Given the description of an element on the screen output the (x, y) to click on. 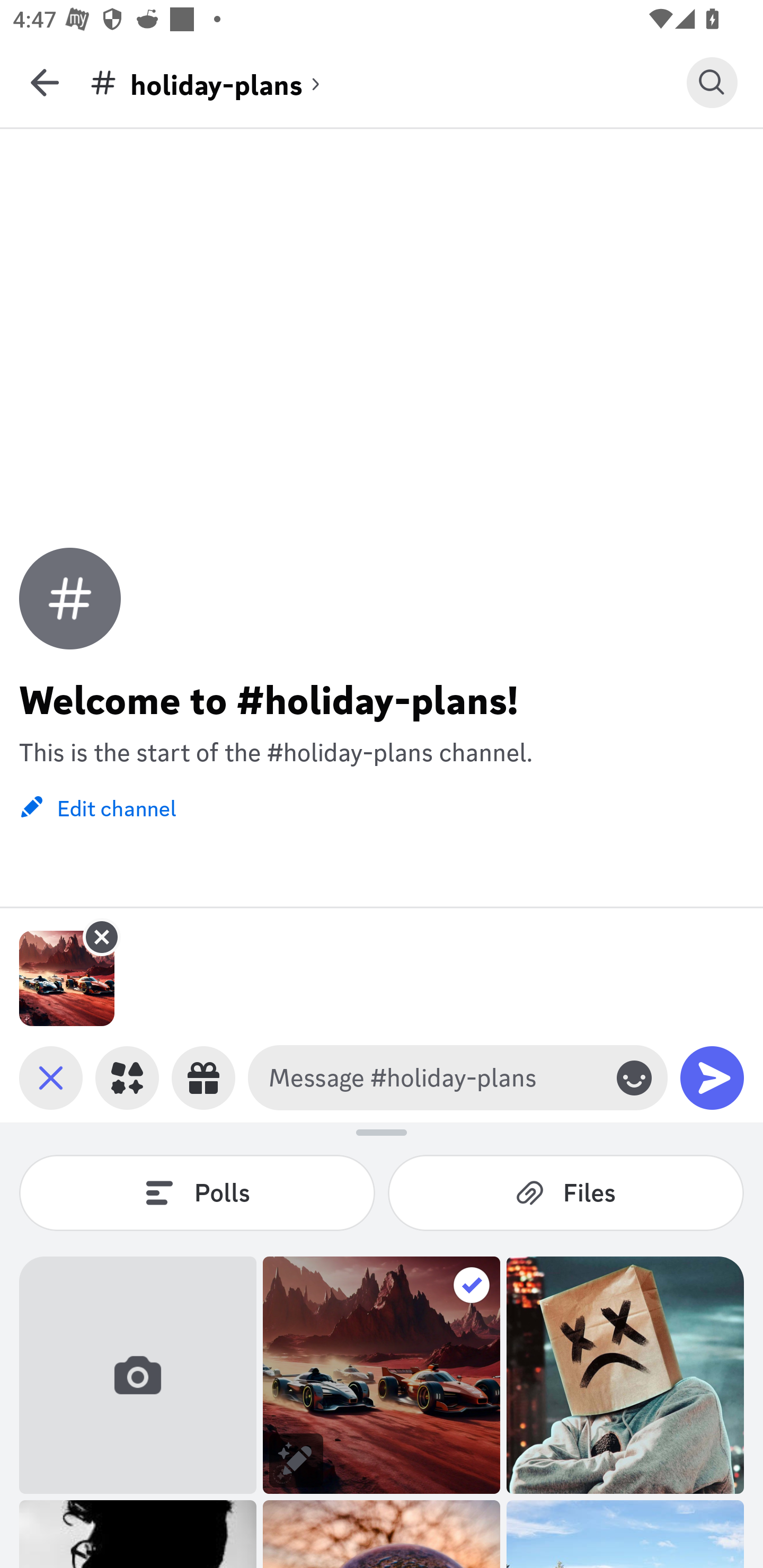
Back (44, 82)
Search (711, 82)
Edit channel (97, 806)
Message Attachment, IMG-20240508-WA0000.jpg (66, 978)
Message #holiday-plans Toggle emoji keyboard (457, 1077)
Toggle media keyboard (50, 1077)
Apps (126, 1077)
Send a gift (203, 1077)
Send (711, 1077)
Toggle emoji keyboard (634, 1077)
Polls (197, 1192)
Files (565, 1192)
Camera (137, 1374)
Photo Remix (381, 1374)
Photo (624, 1374)
Remix (296, 1460)
